Given the description of an element on the screen output the (x, y) to click on. 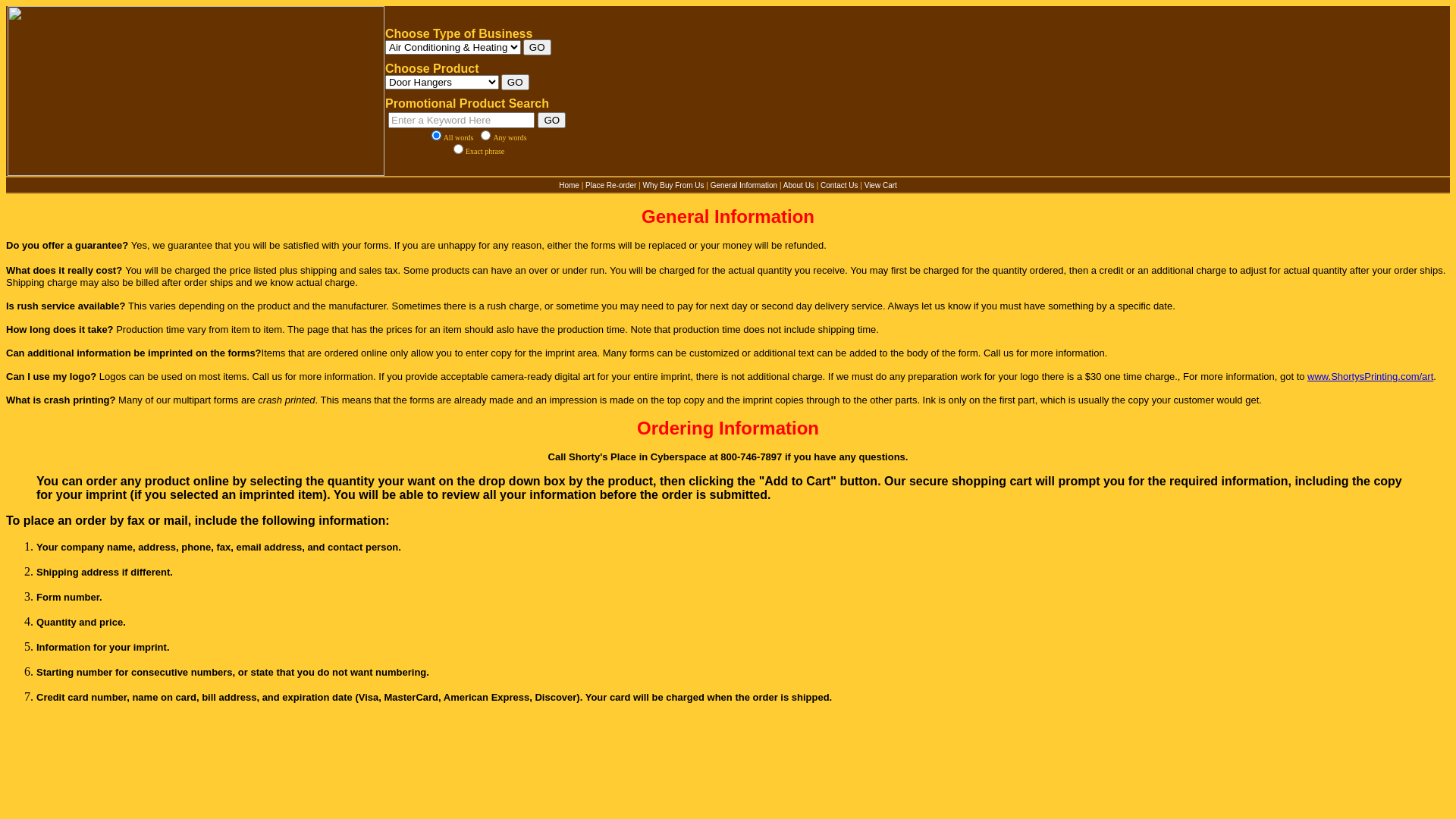
View Cart Element type: text (880, 184)
GO Element type: text (551, 120)
Contact Us Element type: text (838, 184)
Why Buy From Us Element type: text (672, 184)
www.ShortysPrinting.com/art Element type: text (1370, 376)
About Us Element type: text (798, 184)
Place Re-order Element type: text (610, 184)
GO Element type: text (515, 82)
General Information Element type: text (743, 184)
GO Element type: text (537, 47)
Home Element type: text (568, 184)
